Given the description of an element on the screen output the (x, y) to click on. 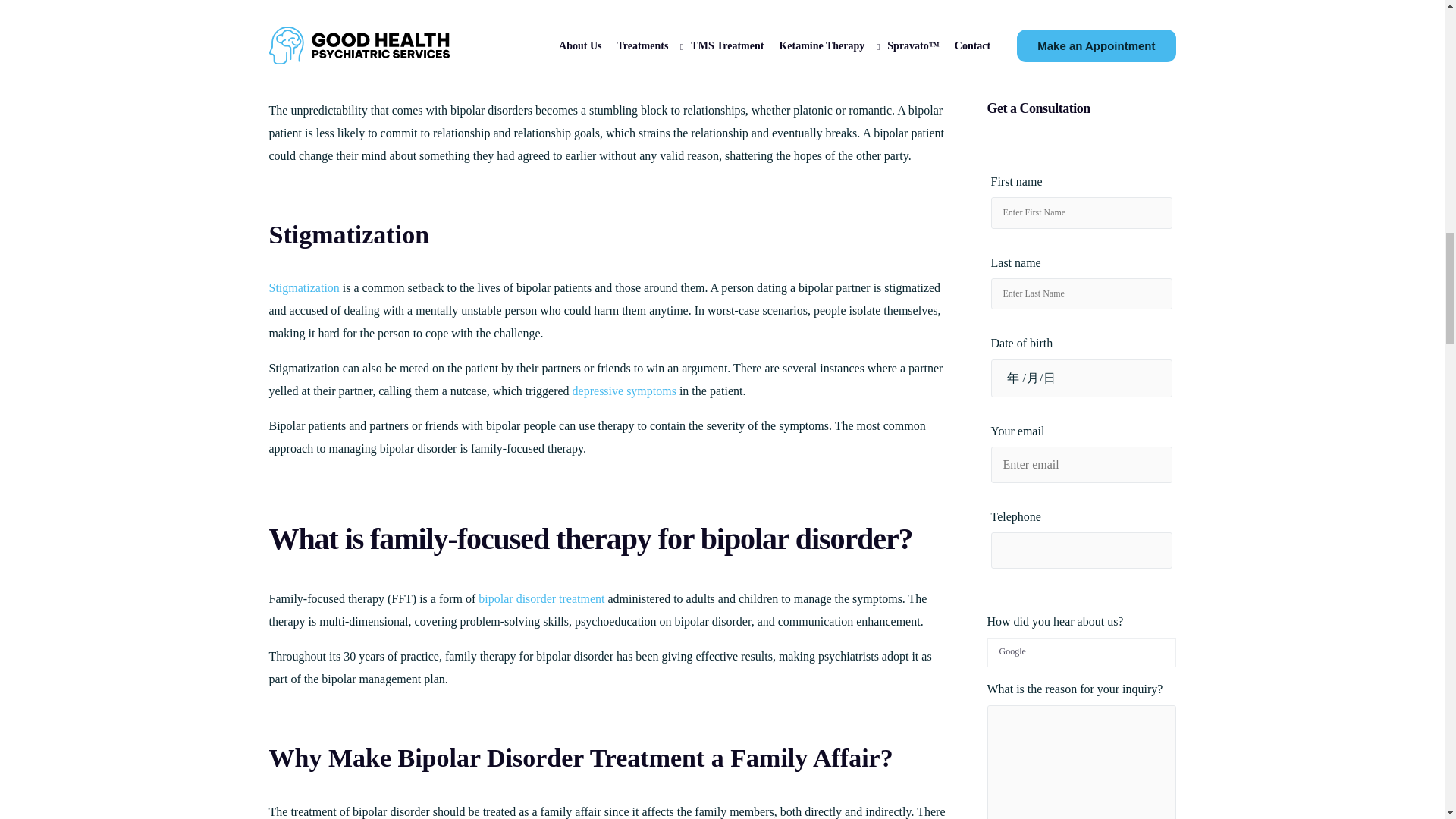
depressive symptoms (624, 390)
bipolar disorder treatment (541, 598)
Stigmatization (303, 287)
